Given the description of an element on the screen output the (x, y) to click on. 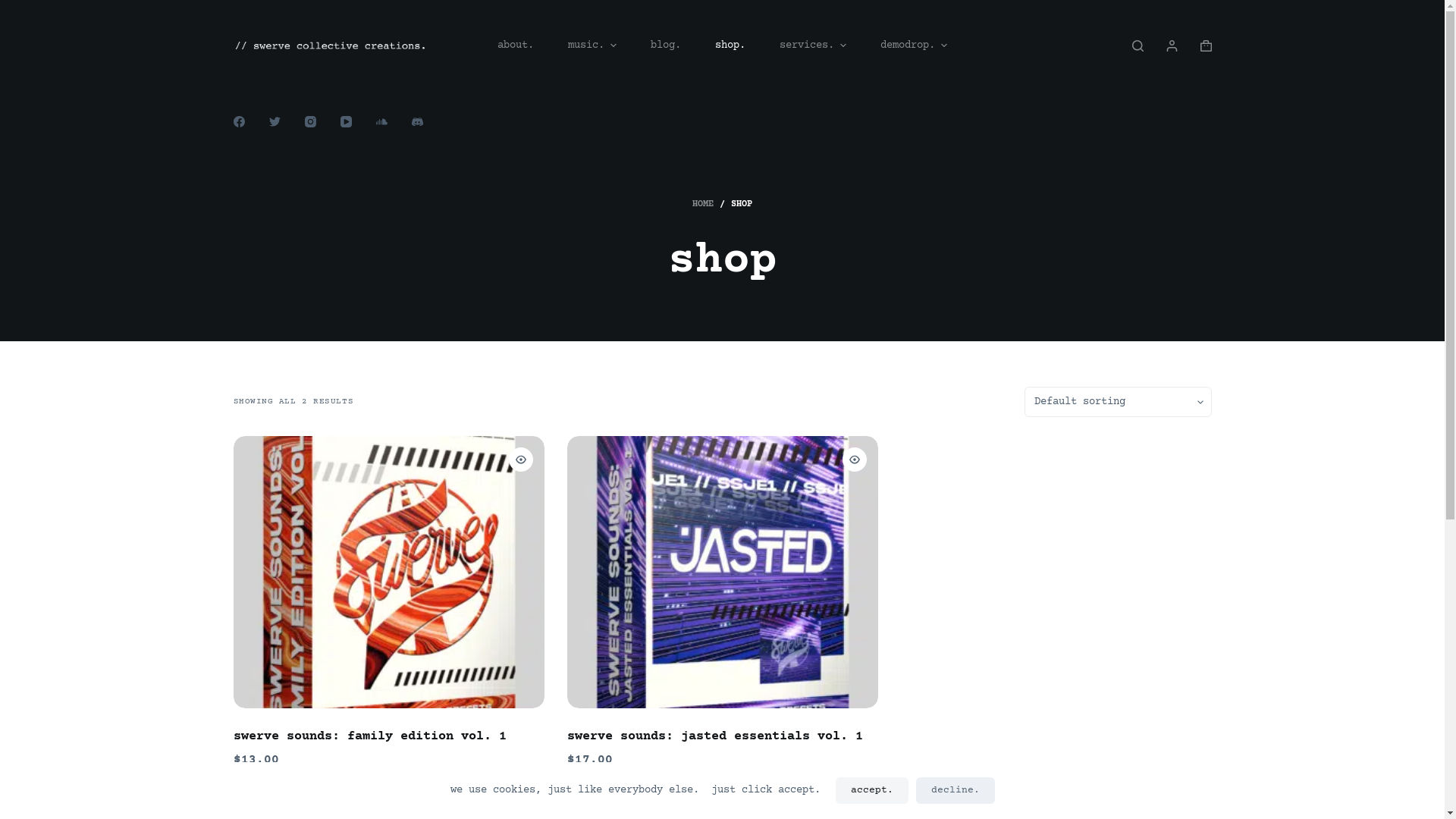
samples. Element type: text (651, 783)
HOME Element type: text (702, 204)
blog. Element type: text (665, 45)
accept. Element type: text (871, 790)
demodrop. Element type: text (912, 45)
swerve sounds: family edition vol. 1
$13.00 Element type: text (388, 603)
about. Element type: text (515, 45)
shop. Element type: text (730, 45)
decline. Element type: text (955, 790)
Skip to content Element type: text (15, 7)
presets. Element type: text (591, 783)
samples. Element type: text (257, 783)
services. Element type: text (812, 45)
swerve sounds: jasted essentials vol. 1
$17.00 Element type: text (722, 603)
music. Element type: text (592, 45)
